Given the description of an element on the screen output the (x, y) to click on. 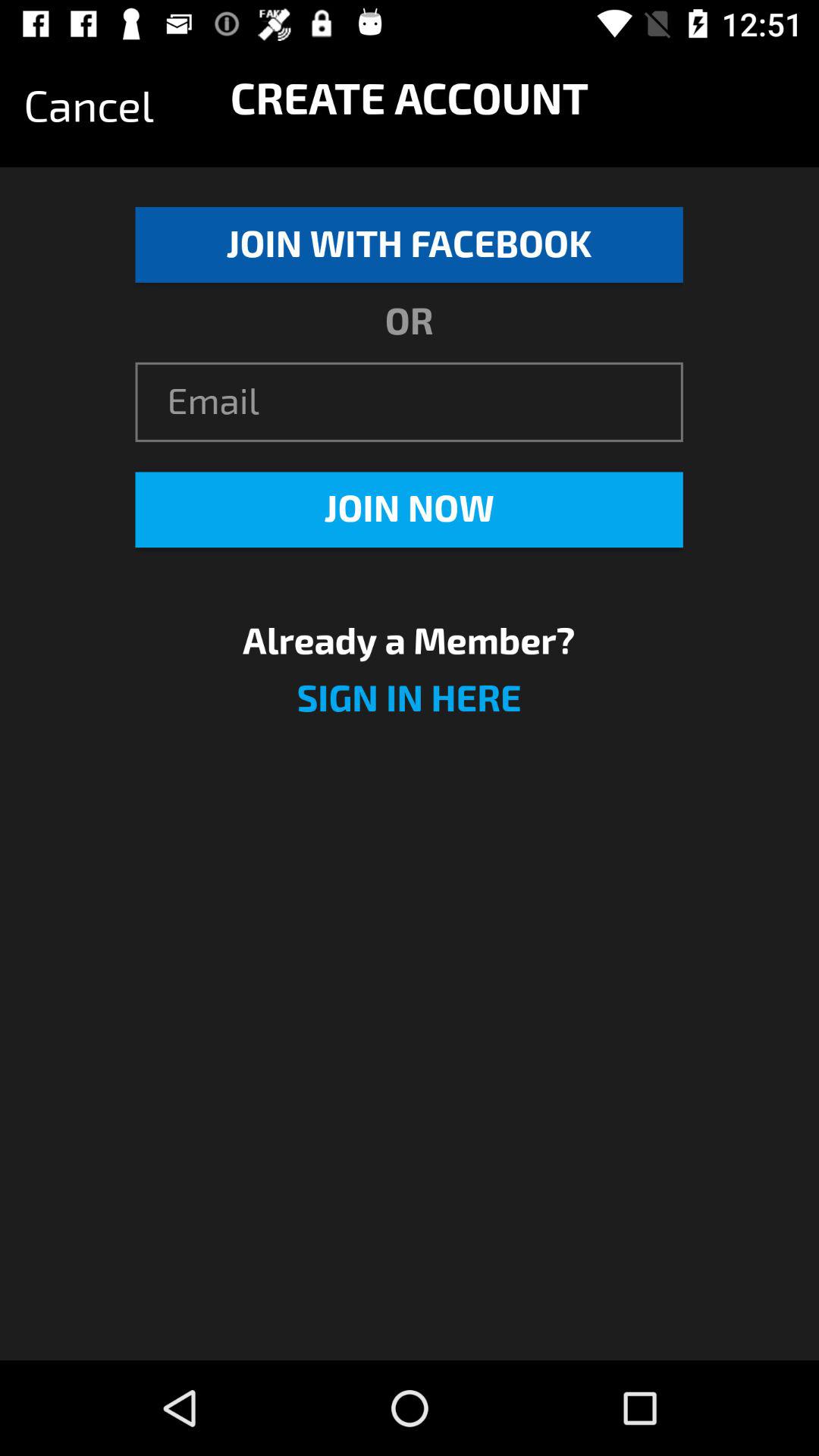
open the item above join now (409, 401)
